Given the description of an element on the screen output the (x, y) to click on. 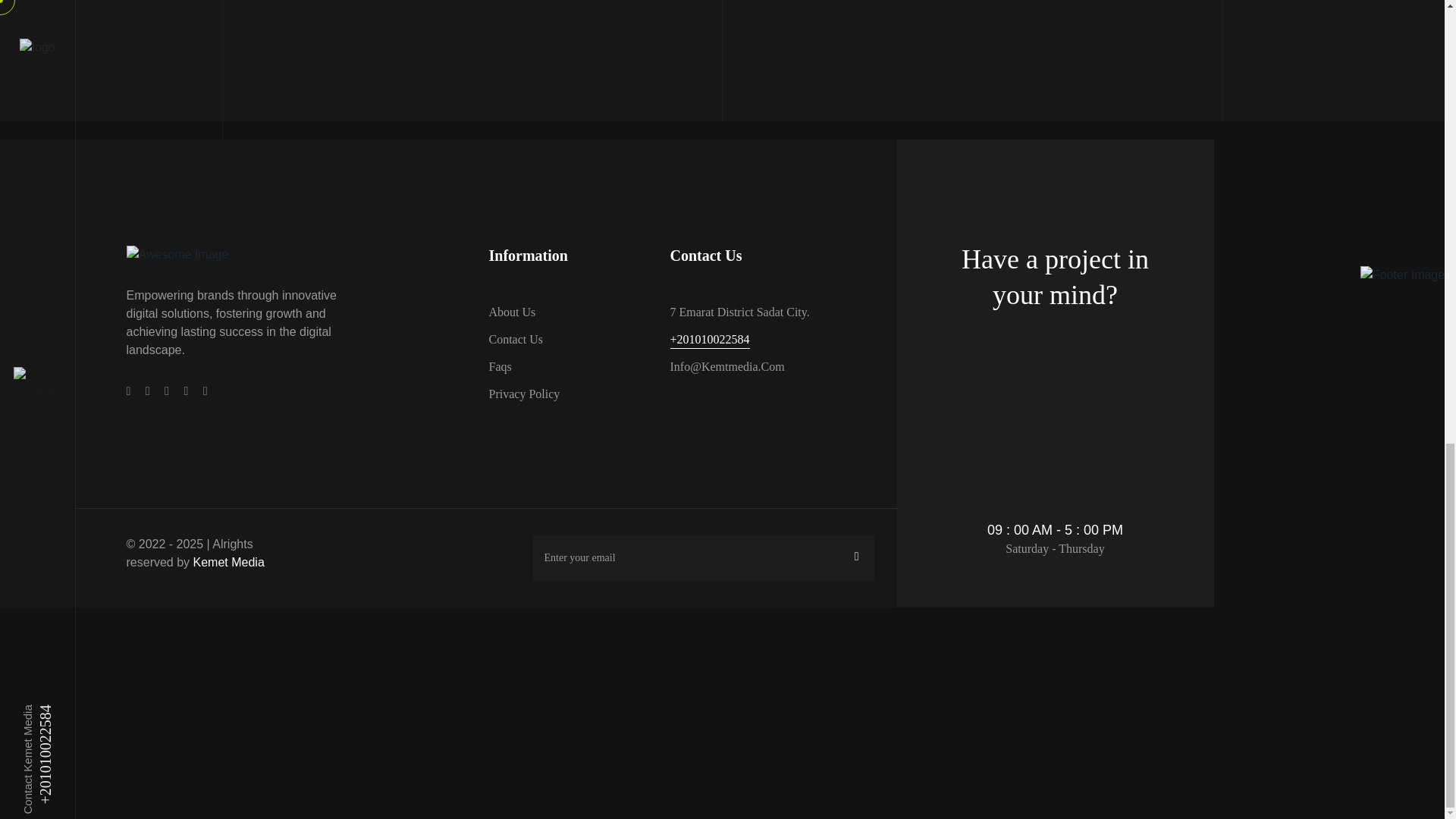
Kemet Media (228, 562)
Faqs (499, 366)
Privacy Policy (523, 393)
Contact Us (515, 339)
About Us (511, 312)
